Given the description of an element on the screen output the (x, y) to click on. 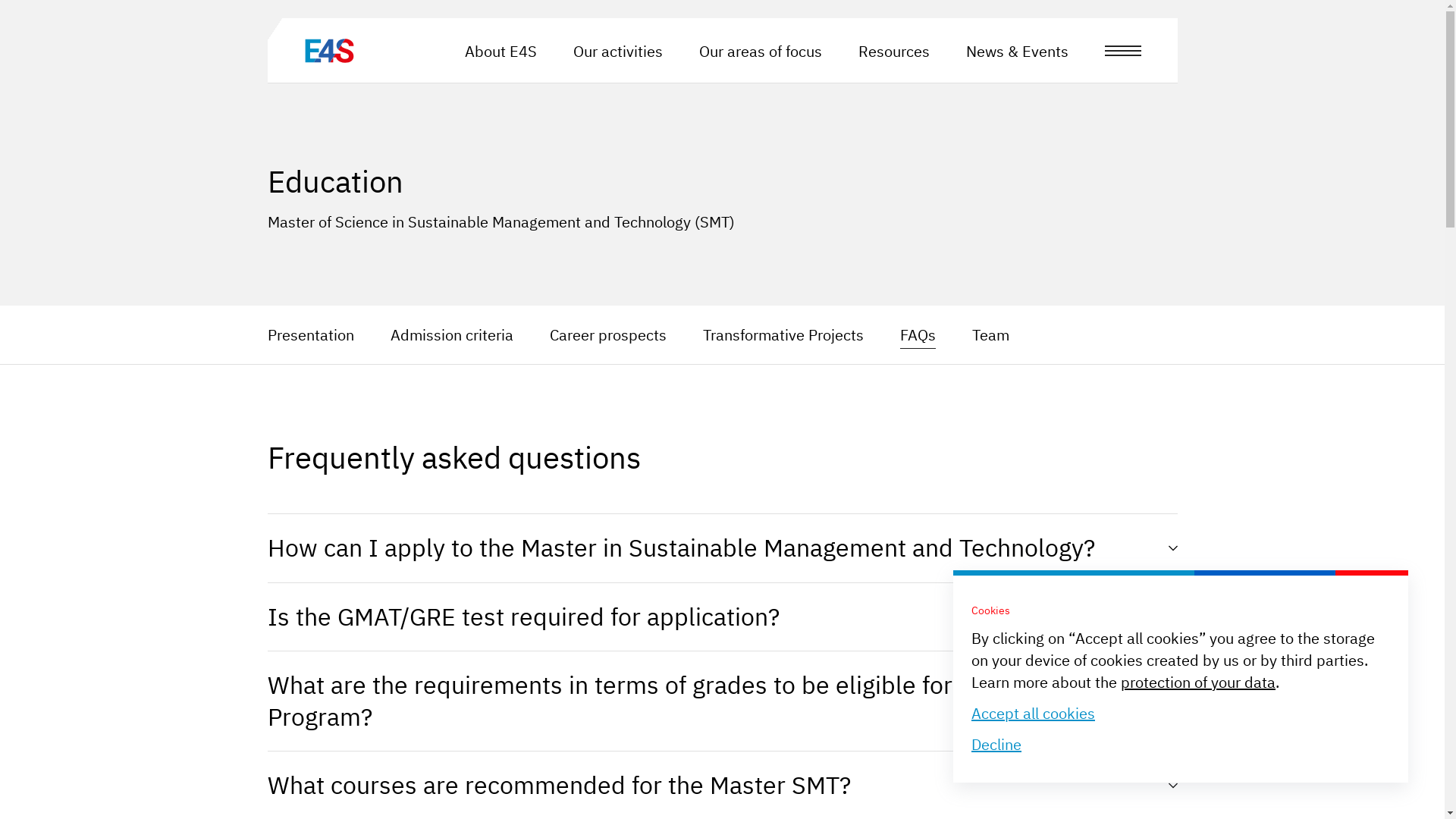
Accept all cookies Element type: text (1033, 713)
FAQs Element type: text (917, 334)
News & Events Element type: text (1016, 50)
Resources Element type: text (893, 50)
Transformative Projects Element type: text (782, 334)
Our areas of focus Element type: text (760, 50)
Our activities Element type: text (617, 50)
protection of your data Element type: text (1197, 681)
Career prospects Element type: text (607, 334)
About E4S Element type: text (499, 50)
Admission criteria Element type: text (450, 334)
Presentation Element type: text (309, 334)
Decline Element type: text (996, 744)
Team Element type: text (990, 334)
